Given the description of an element on the screen output the (x, y) to click on. 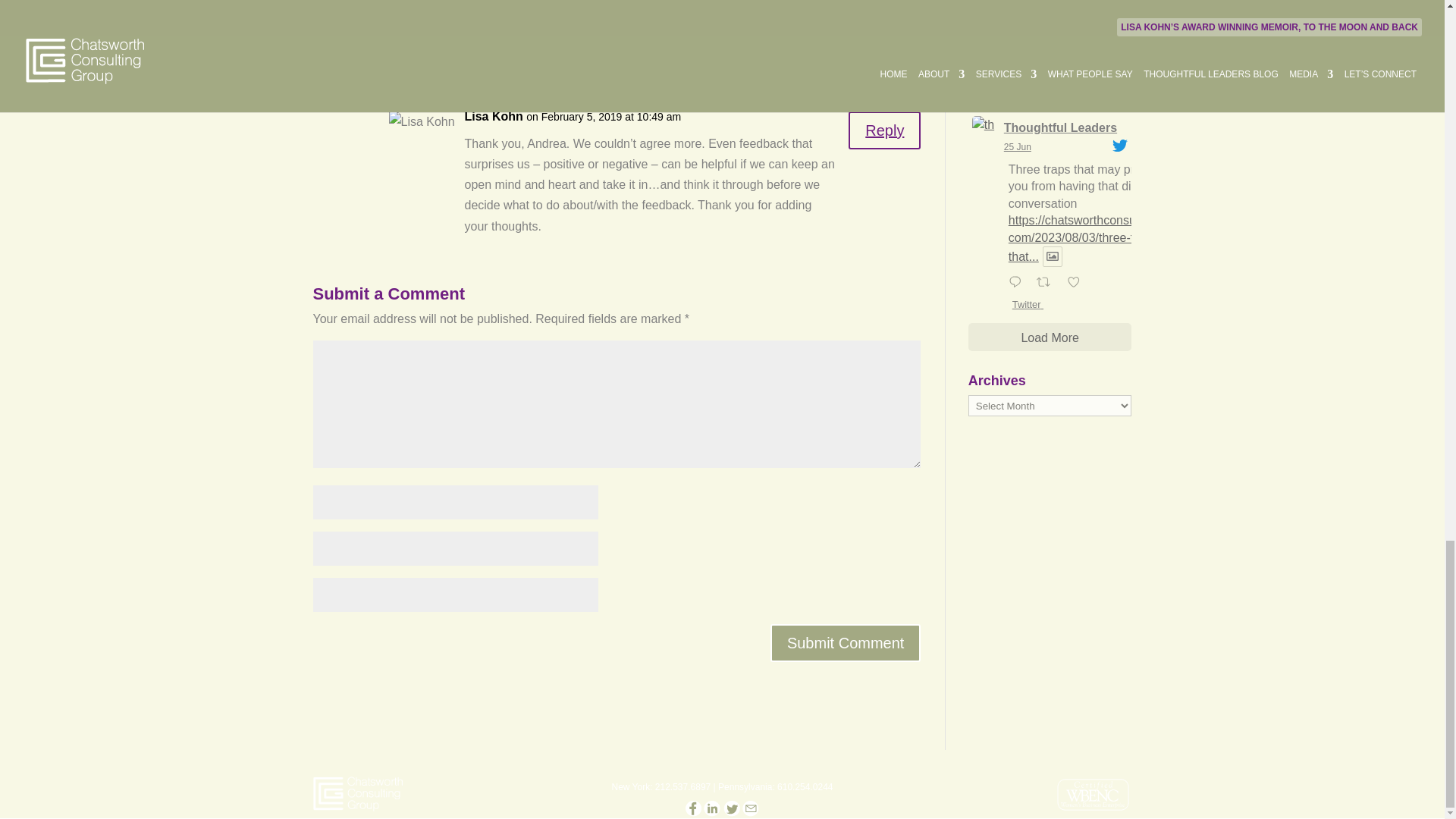
Submit Comment (845, 642)
